Given the description of an element on the screen output the (x, y) to click on. 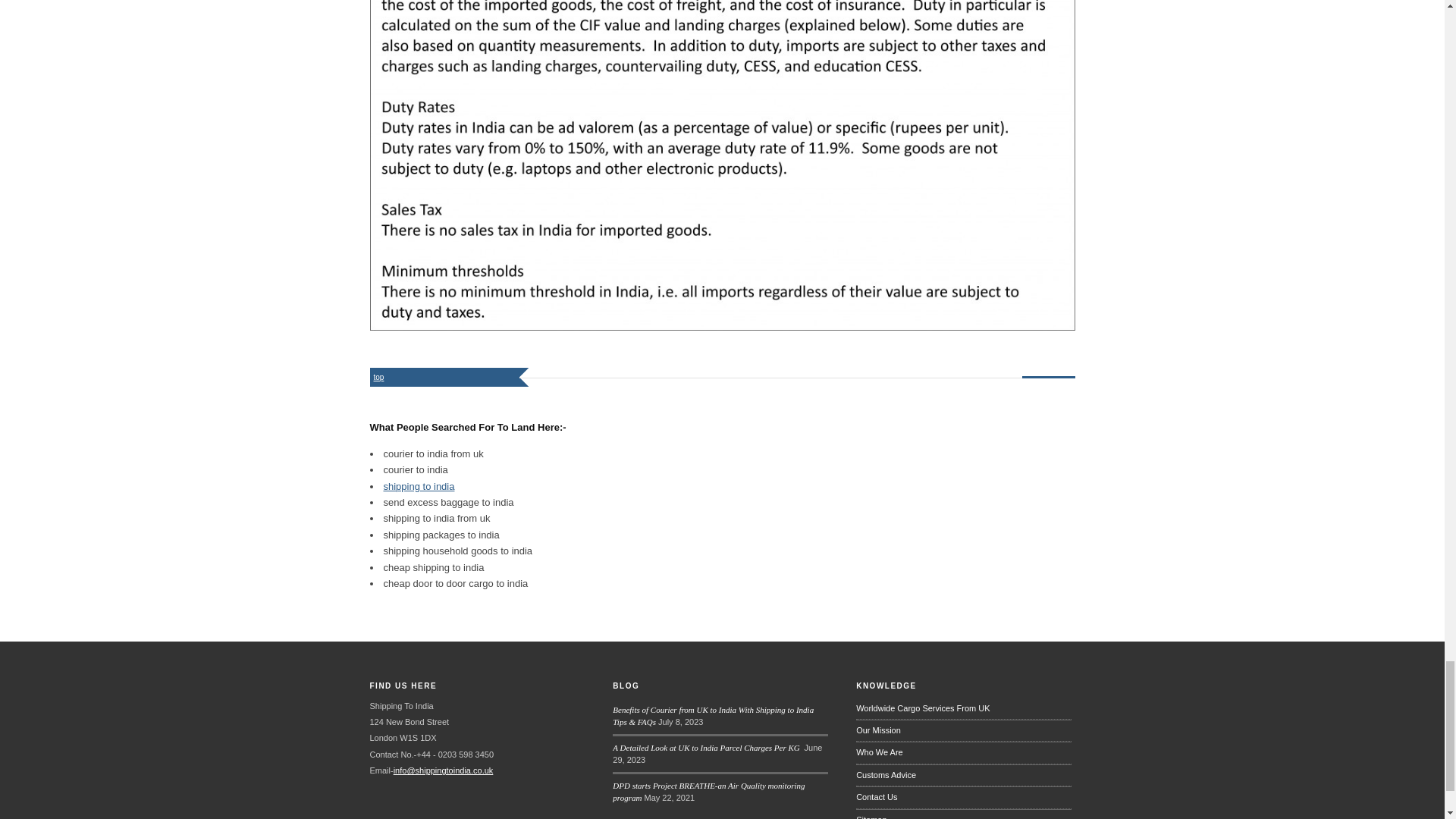
Customs Advice (963, 775)
Sitemap (963, 814)
top (379, 377)
top (379, 377)
shipping to india (419, 486)
Who We Are (963, 752)
Our Mission (963, 730)
Contact Us (963, 797)
A Detailed Look at UK to India Parcel Charges Per KG  (707, 747)
DPD starts Project BREATHE-an Air Quality monitoring program (708, 792)
